Given the description of an element on the screen output the (x, y) to click on. 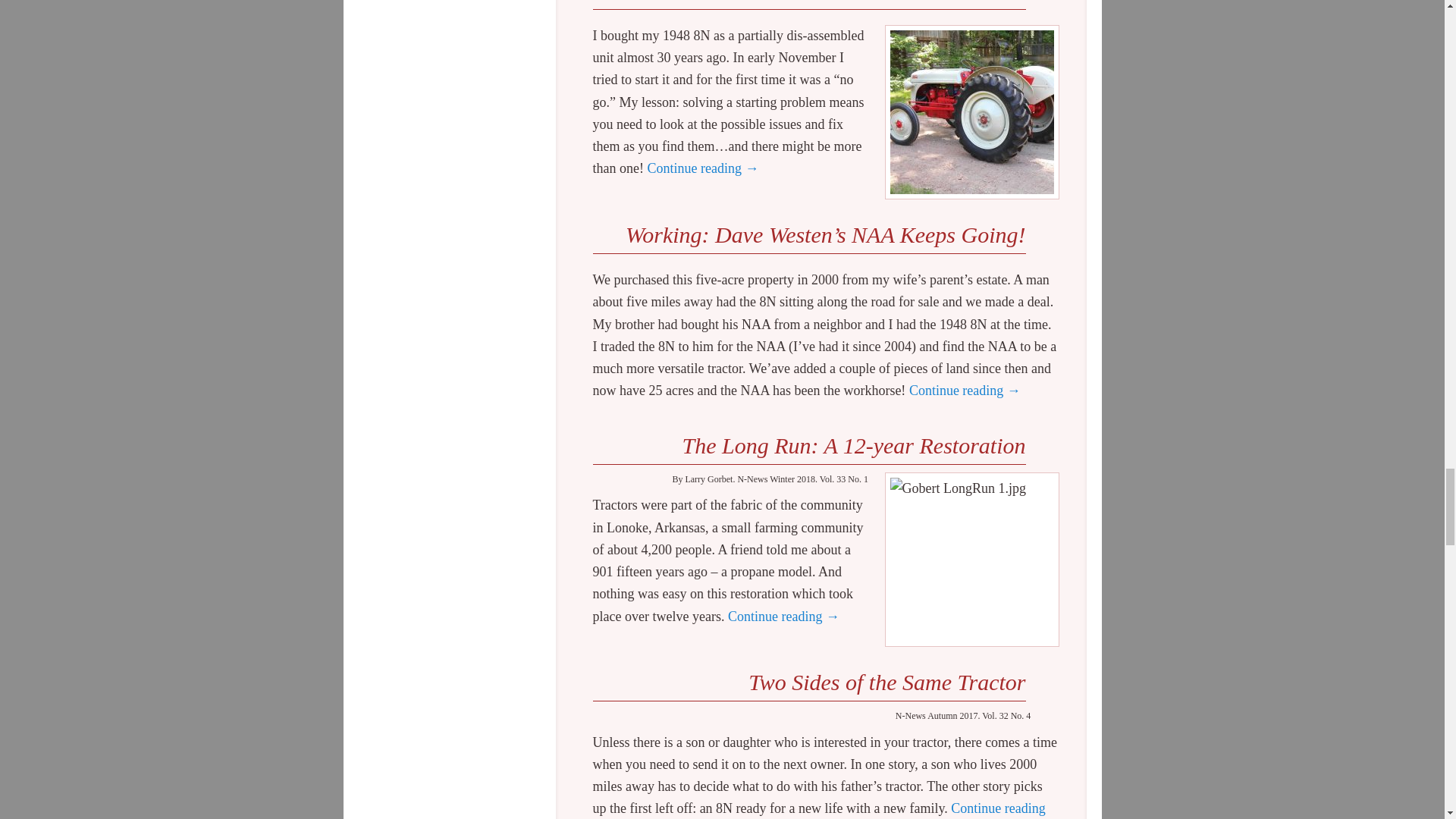
Permalink to The Long Run: A 12-year Restoration (853, 445)
Permalink to Two Sides of the Same Tractor (886, 681)
